Given the description of an element on the screen output the (x, y) to click on. 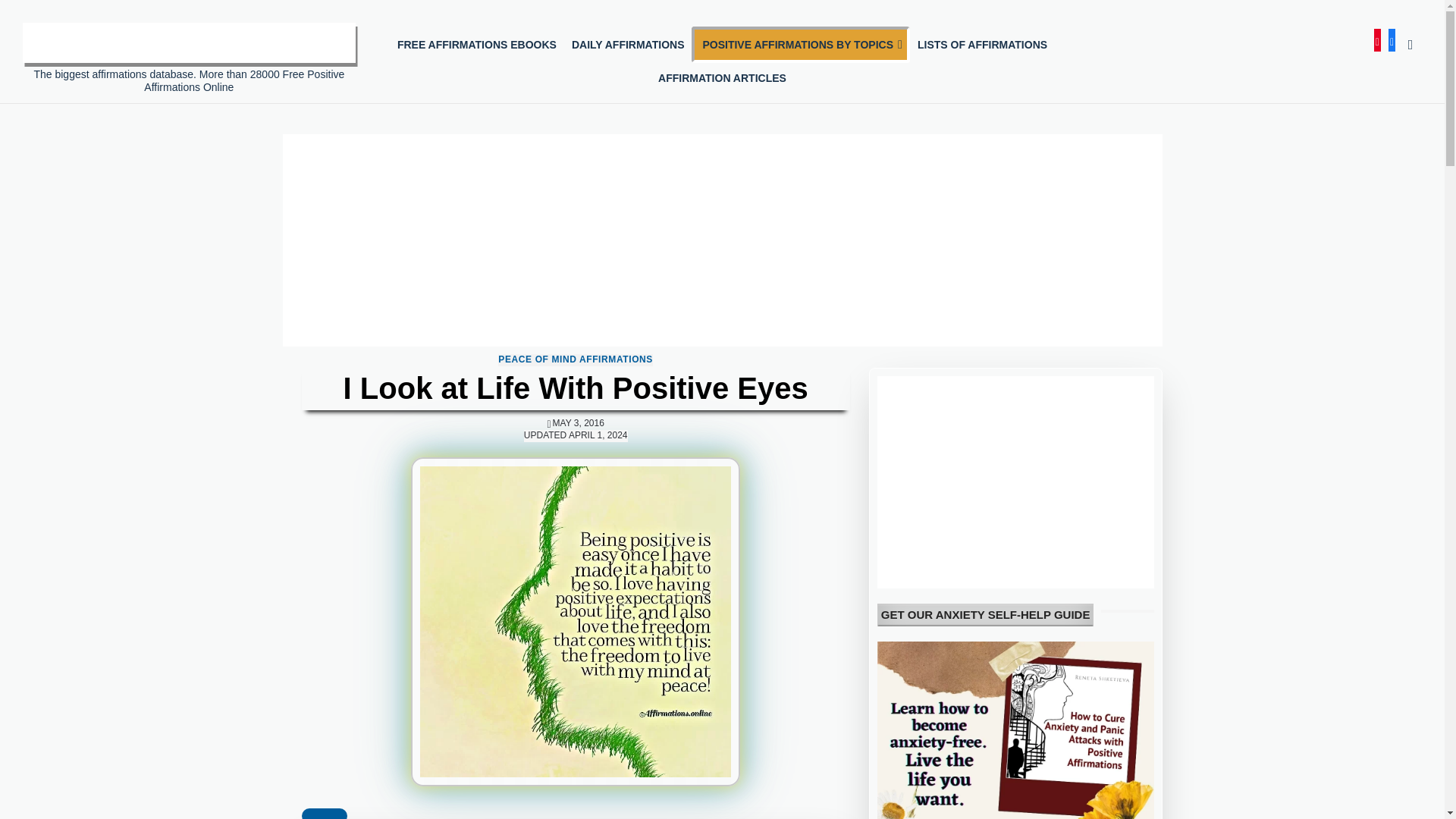
LISTS OF AFFIRMATIONS (982, 44)
POSITIVE AFFIRMATIONS BY TOPICS (800, 44)
PEACE OF MIND AFFIRMATIONS (574, 358)
AFFIRMATION ARTICLES (721, 78)
Advertisement (1015, 481)
FREE AFFIRMATIONS EBOOKS (477, 44)
DAILY AFFIRMATIONS (628, 44)
